Given the description of an element on the screen output the (x, y) to click on. 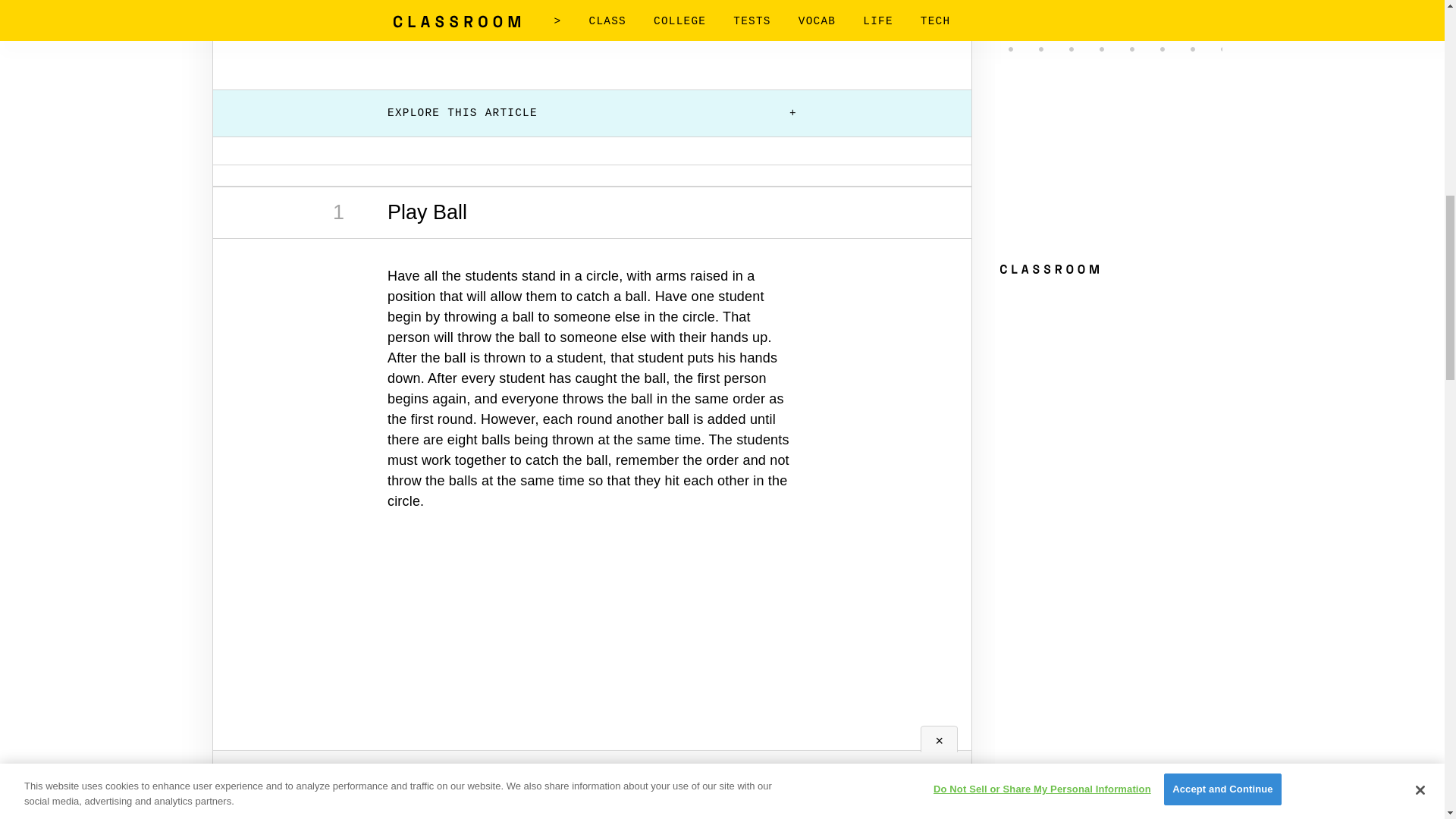
3rd party ad content (592, 31)
3rd party ad content (592, 667)
